Given the description of an element on the screen output the (x, y) to click on. 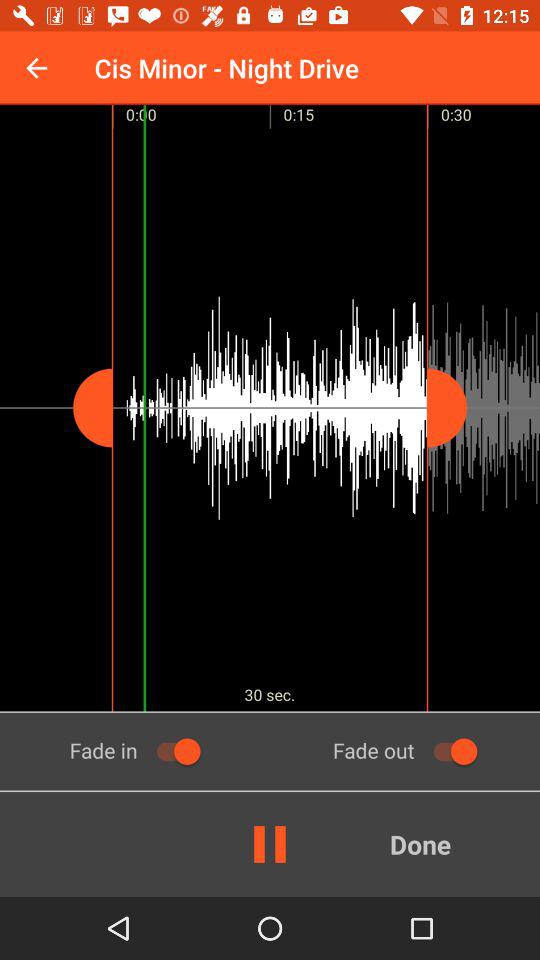
tap item at the top left corner (36, 68)
